Given the description of an element on the screen output the (x, y) to click on. 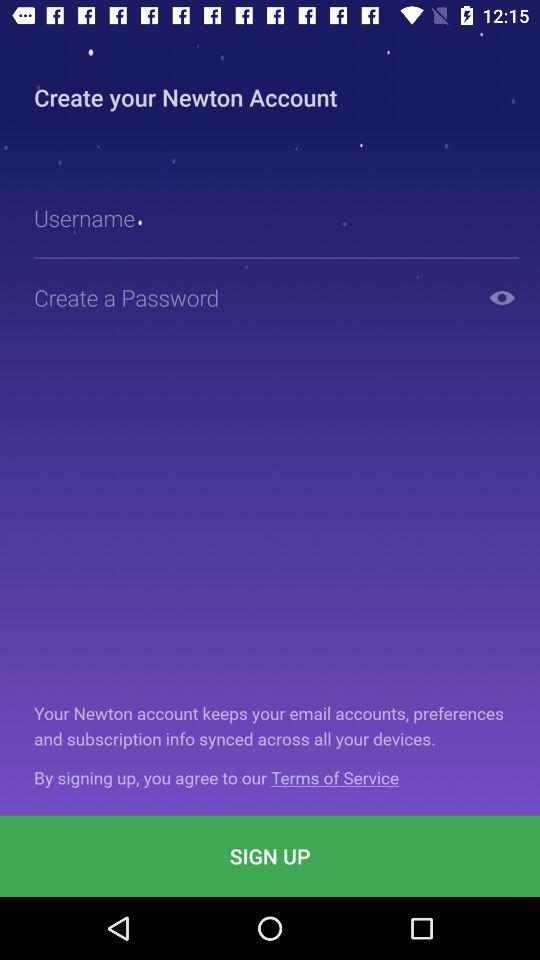
password box (251, 297)
